Given the description of an element on the screen output the (x, y) to click on. 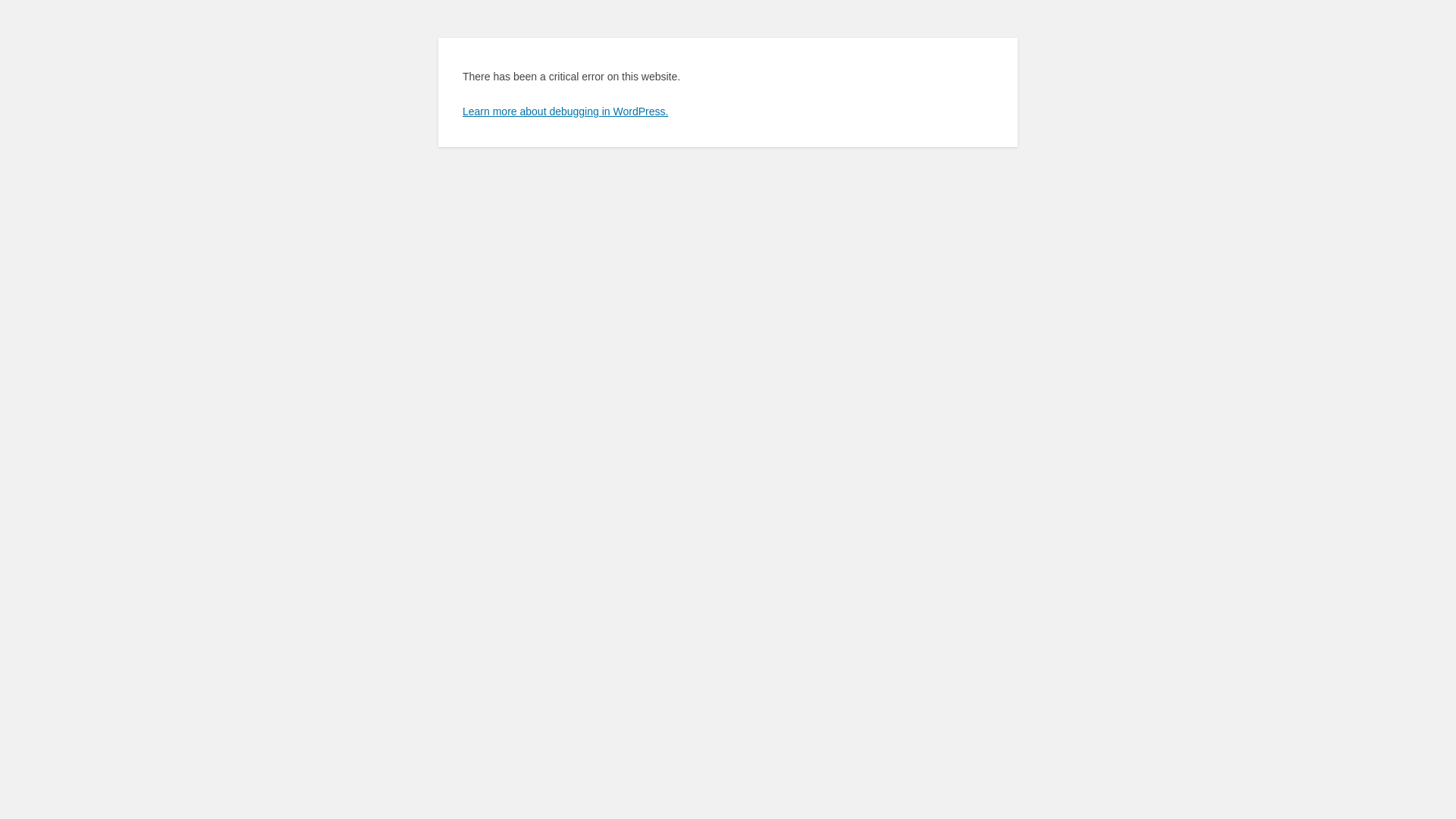
Learn more about debugging in WordPress. Element type: text (565, 111)
